Given the description of an element on the screen output the (x, y) to click on. 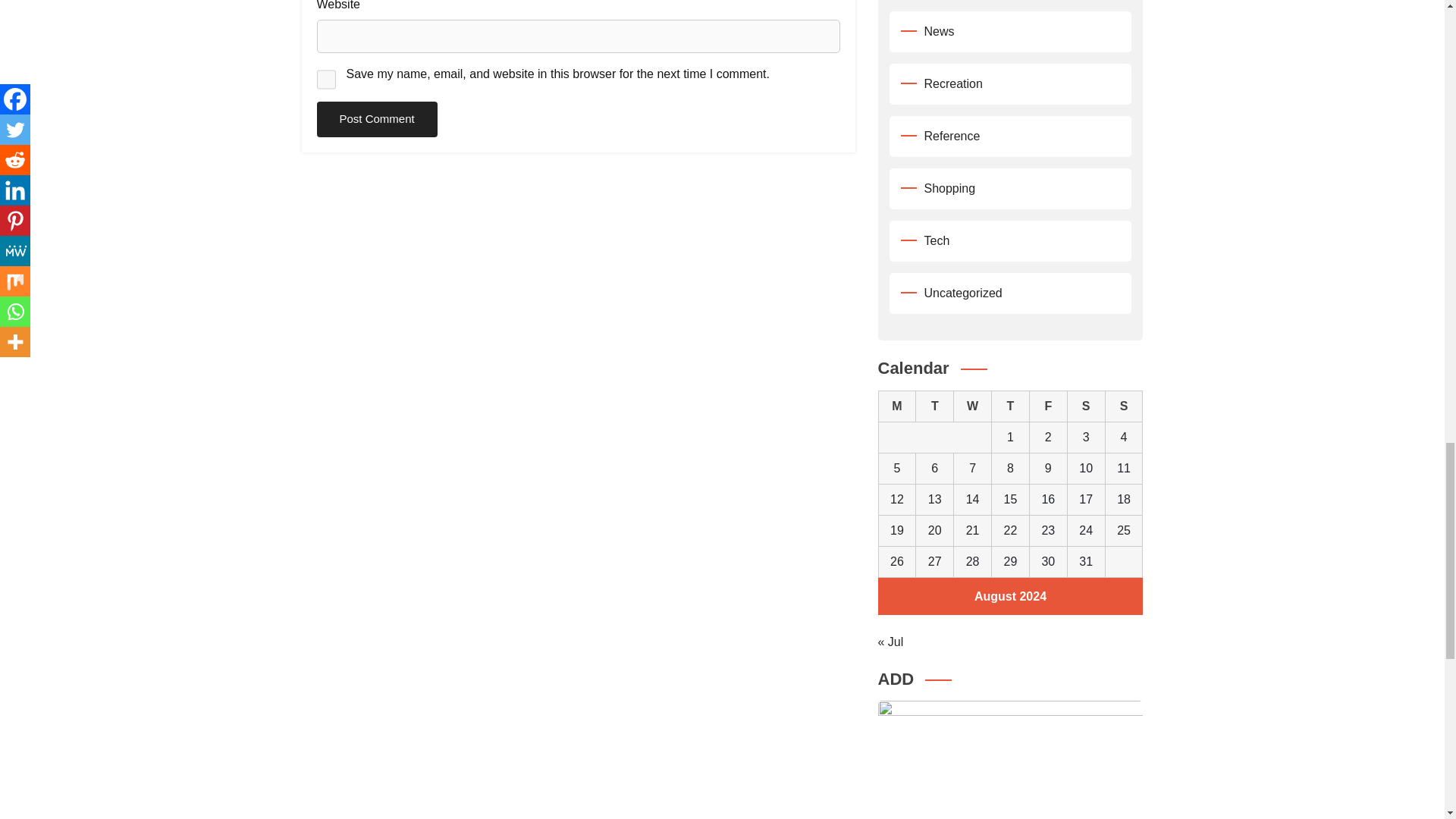
Post Comment (377, 119)
Post Comment (377, 119)
yes (326, 79)
